Given the description of an element on the screen output the (x, y) to click on. 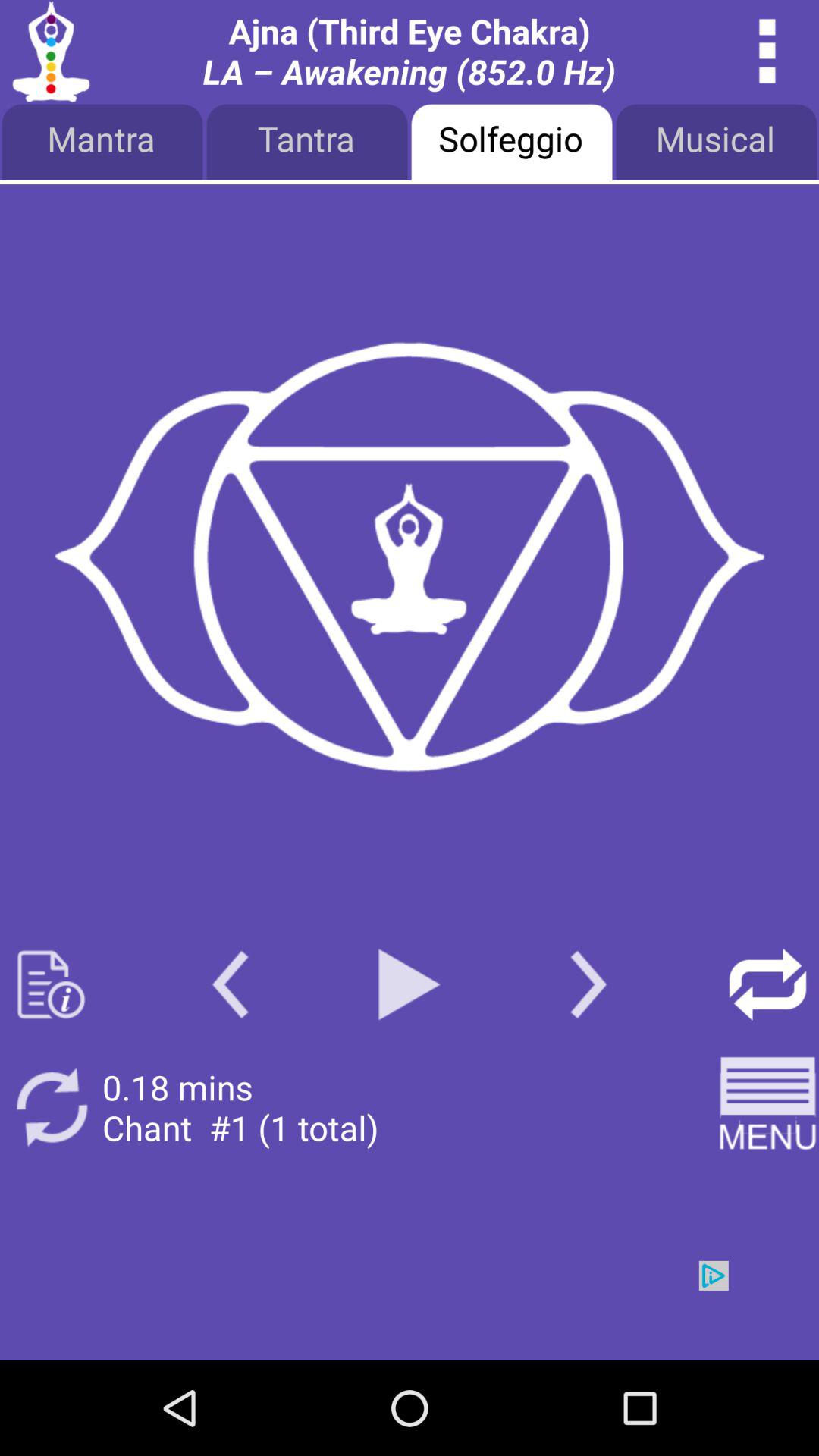
next button (588, 984)
